Given the description of an element on the screen output the (x, y) to click on. 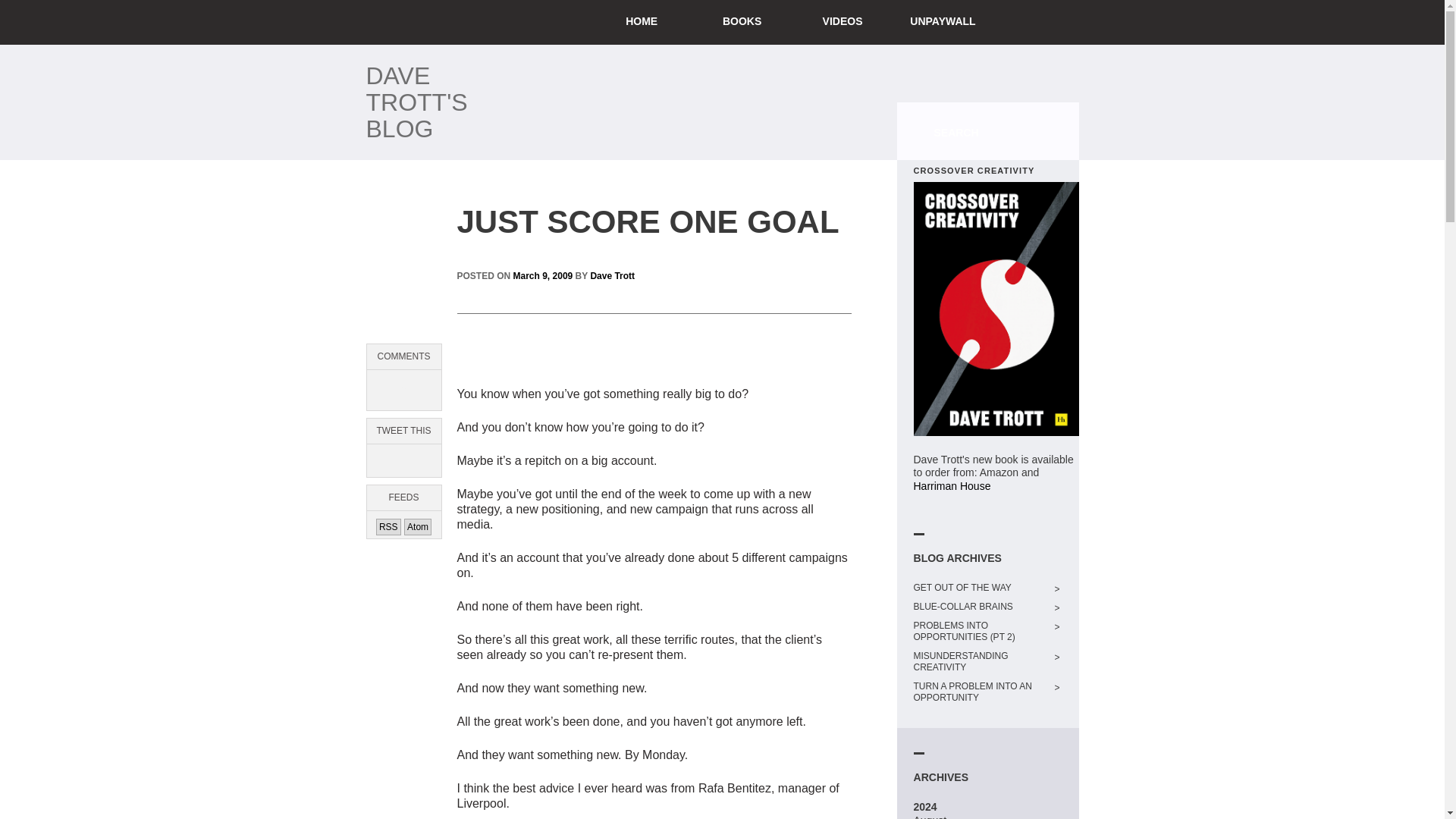
UNPAYWALL (943, 22)
GET OUT OF THE WAY (980, 587)
2024 (924, 806)
August (929, 816)
11:01 am (543, 276)
VIDEOS (842, 22)
View all posts by Dave Trott (611, 276)
HOME (641, 22)
BOOKS (742, 22)
Harriman House (951, 485)
